Given the description of an element on the screen output the (x, y) to click on. 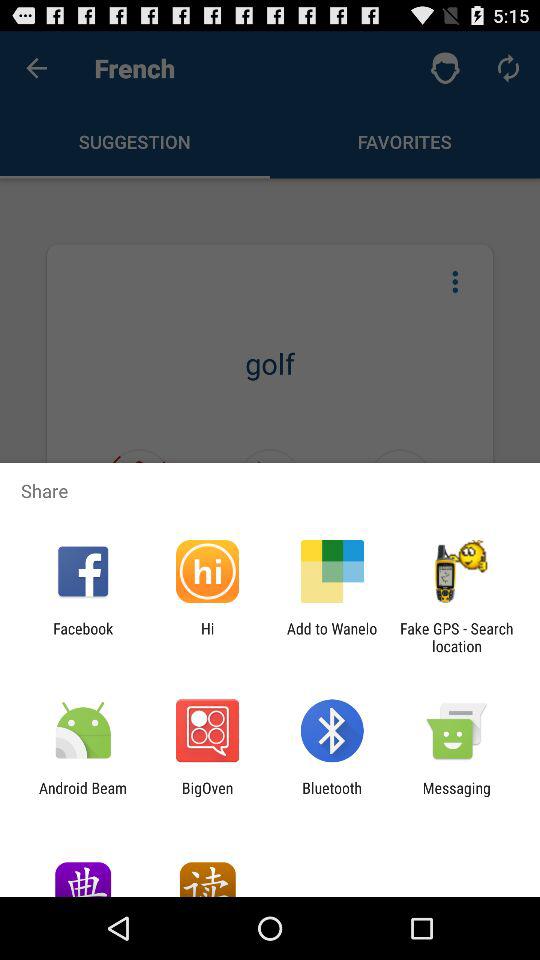
flip until messaging app (456, 796)
